Given the description of an element on the screen output the (x, y) to click on. 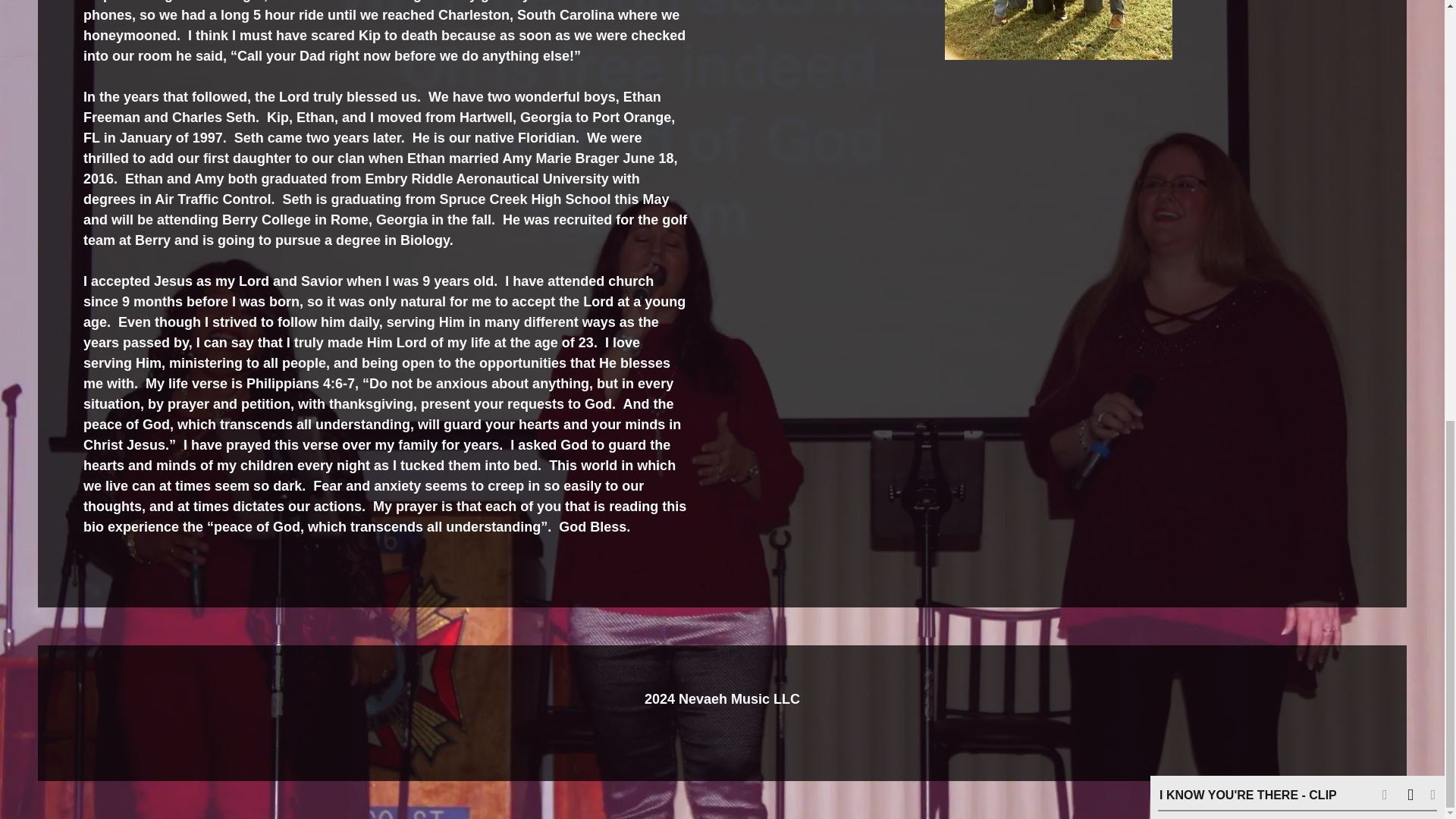
How You Hold Me (1226, 120)
I Know You're There - Clip (1247, 84)
I Know You're There - Clip (1247, 84)
